Given the description of an element on the screen output the (x, y) to click on. 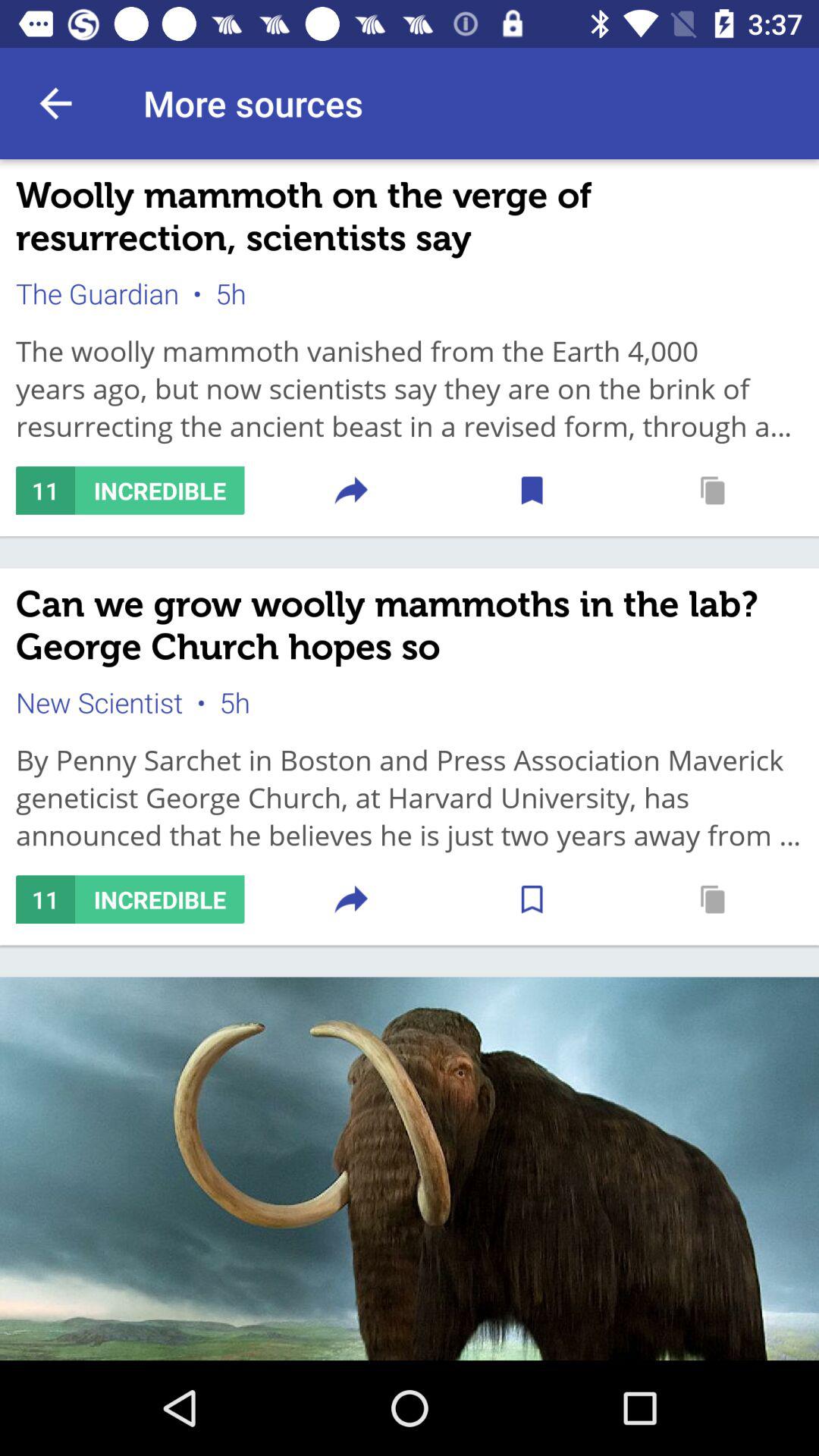
turn on item above woolly mammoth on item (55, 103)
